Given the description of an element on the screen output the (x, y) to click on. 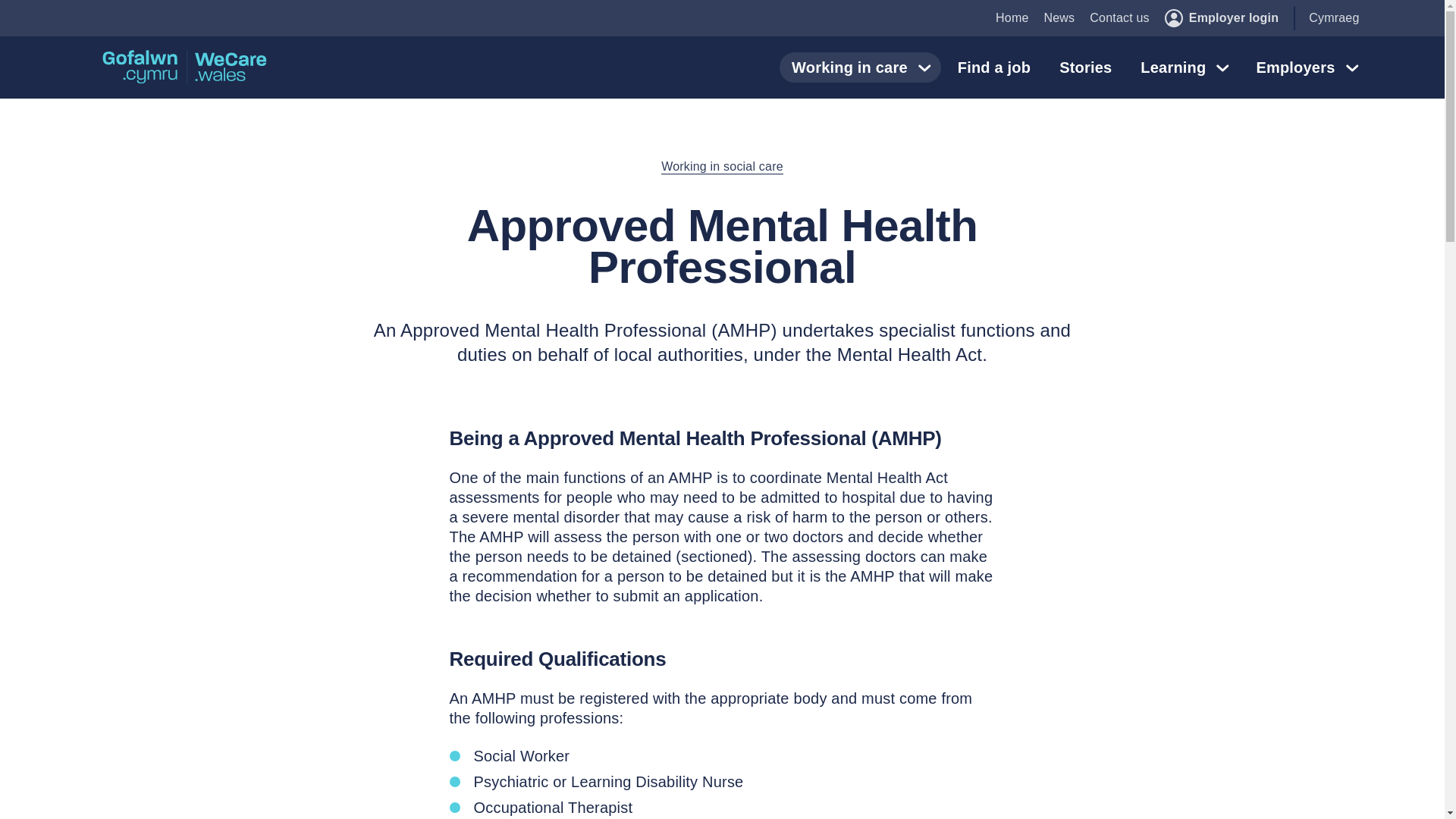
Find a job (993, 67)
Employers (1305, 66)
Working in care (859, 66)
Employer login (1221, 18)
Employers (1305, 66)
Cymraeg (1333, 17)
Working in social care (722, 166)
Go to the homepage (185, 67)
Employer login (1221, 18)
Stories (1085, 67)
